Given the description of an element on the screen output the (x, y) to click on. 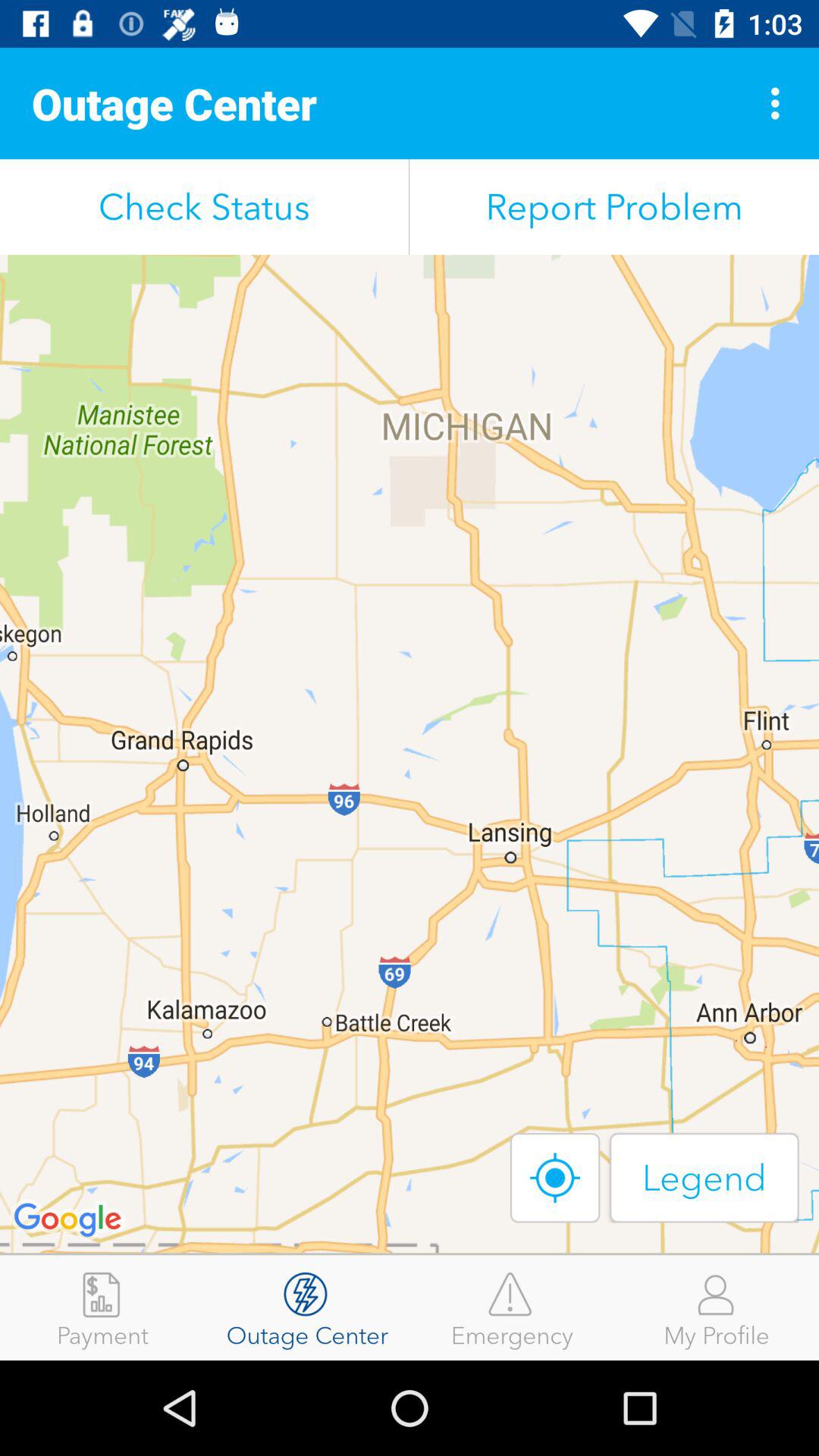
jump to payment (102, 1307)
